Given the description of an element on the screen output the (x, y) to click on. 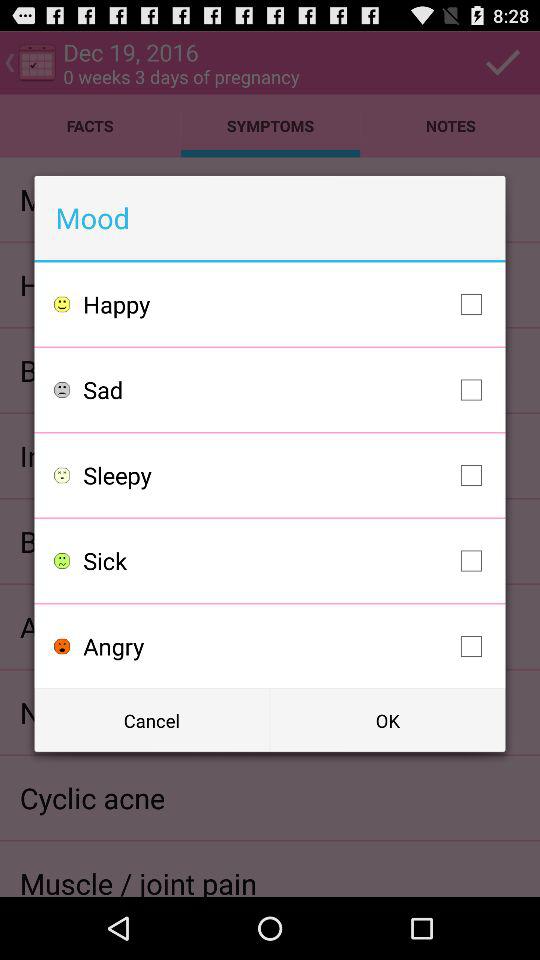
launch item below the sick item (287, 646)
